Given the description of an element on the screen output the (x, y) to click on. 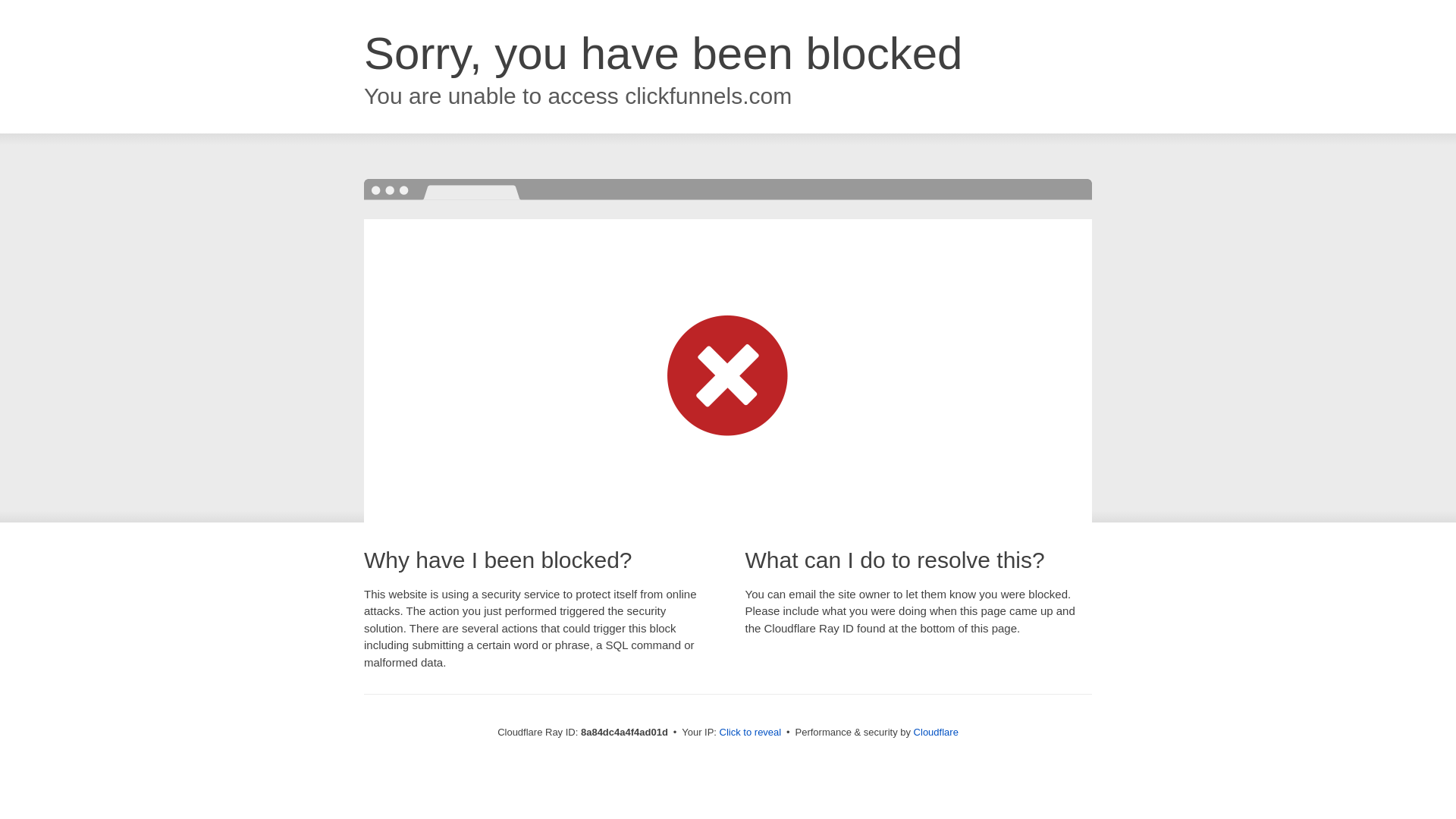
Click to reveal (750, 732)
Cloudflare (936, 731)
